Given the description of an element on the screen output the (x, y) to click on. 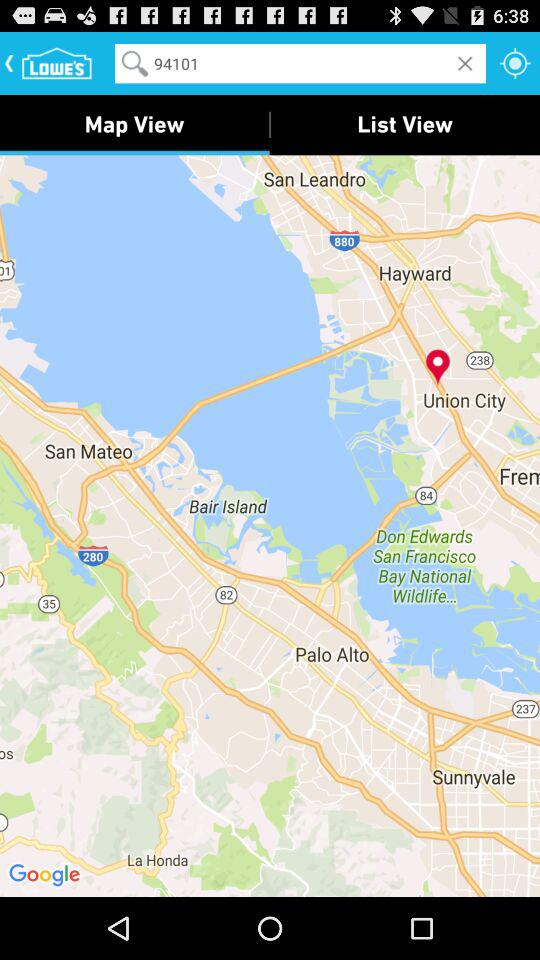
turn off item below map view icon (270, 525)
